Given the description of an element on the screen output the (x, y) to click on. 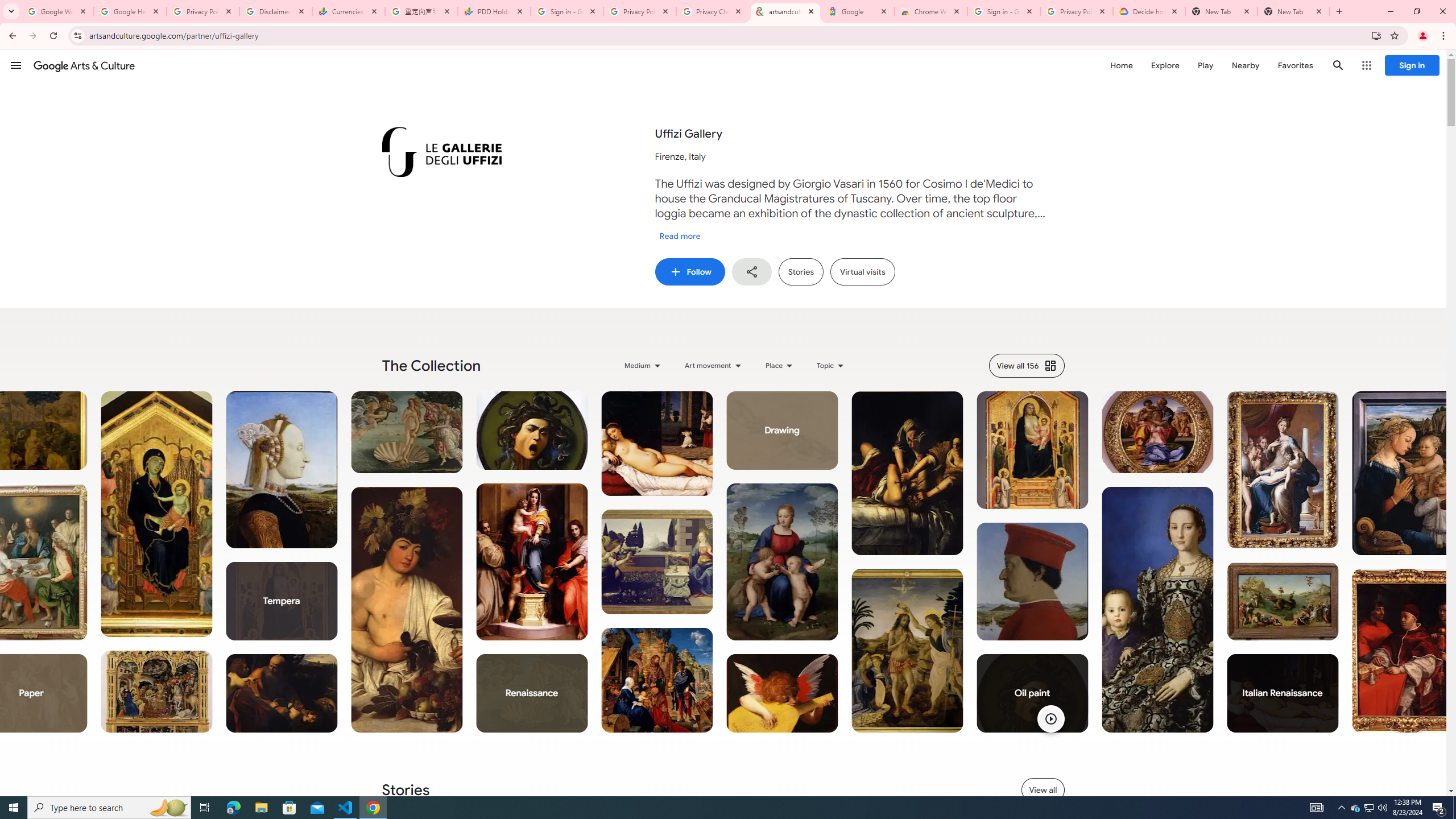
Art movement (713, 365)
Google (857, 11)
Medium (643, 365)
Google Arts & Culture (84, 65)
Play (1205, 65)
Install Google Arts & Culture (1376, 35)
Home (1120, 65)
